Given the description of an element on the screen output the (x, y) to click on. 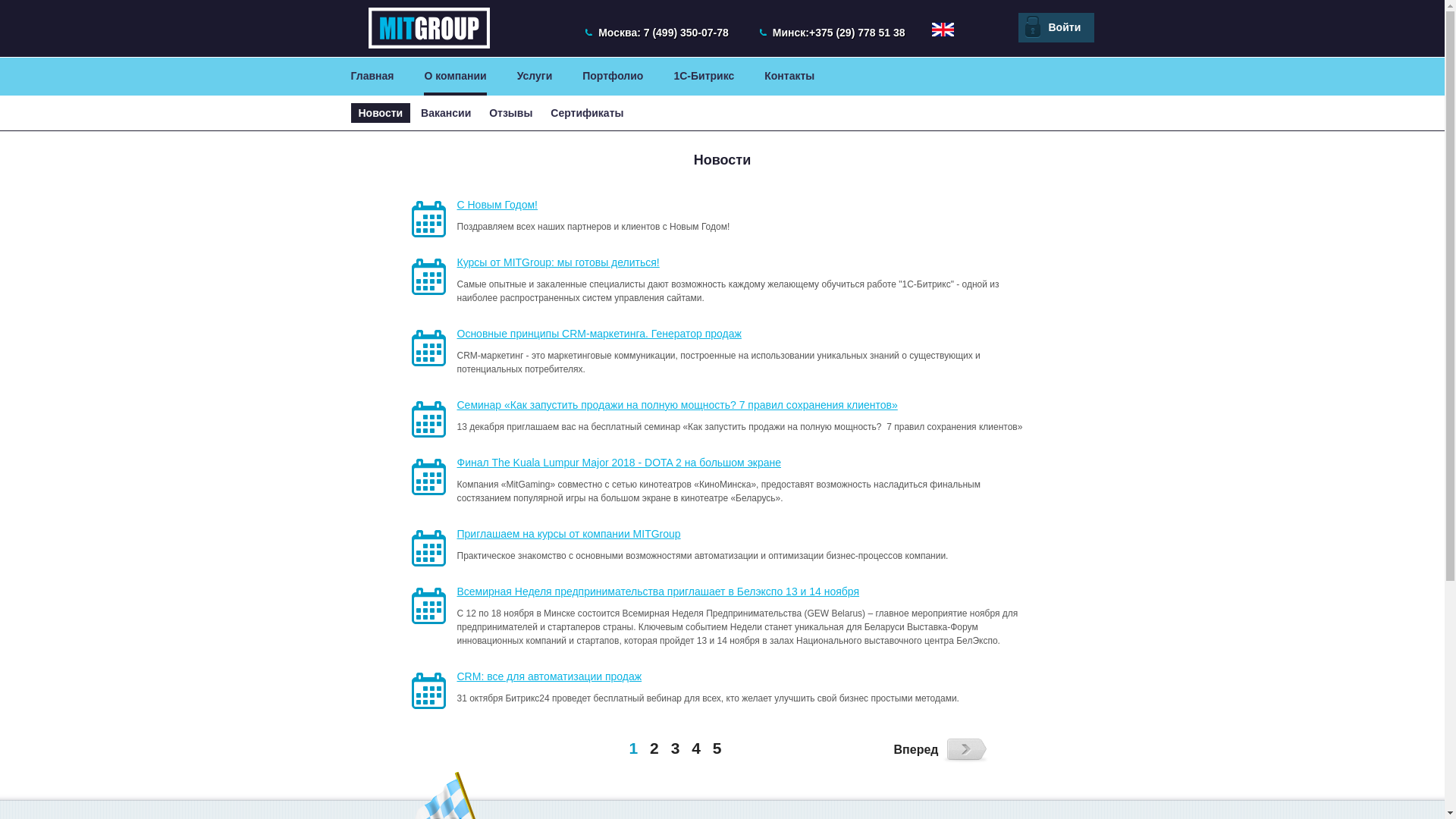
3 Element type: text (675, 747)
index.png Element type: hover (942, 29)
4 Element type: text (695, 747)
2 Element type: text (654, 747)
5 Element type: text (717, 747)
1 Element type: text (633, 747)
